Given the description of an element on the screen output the (x, y) to click on. 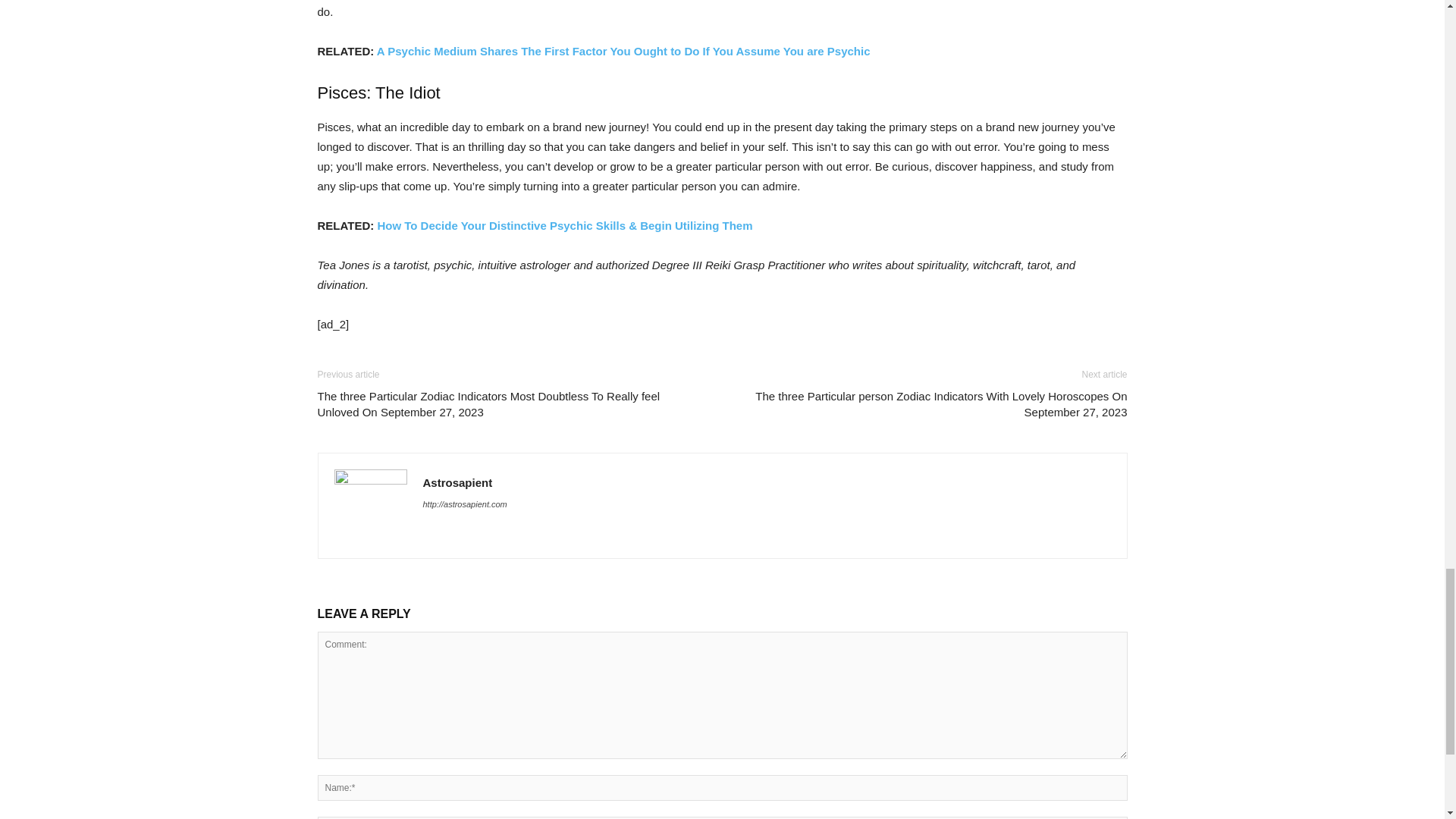
Astrosapient (458, 481)
